Given the description of an element on the screen output the (x, y) to click on. 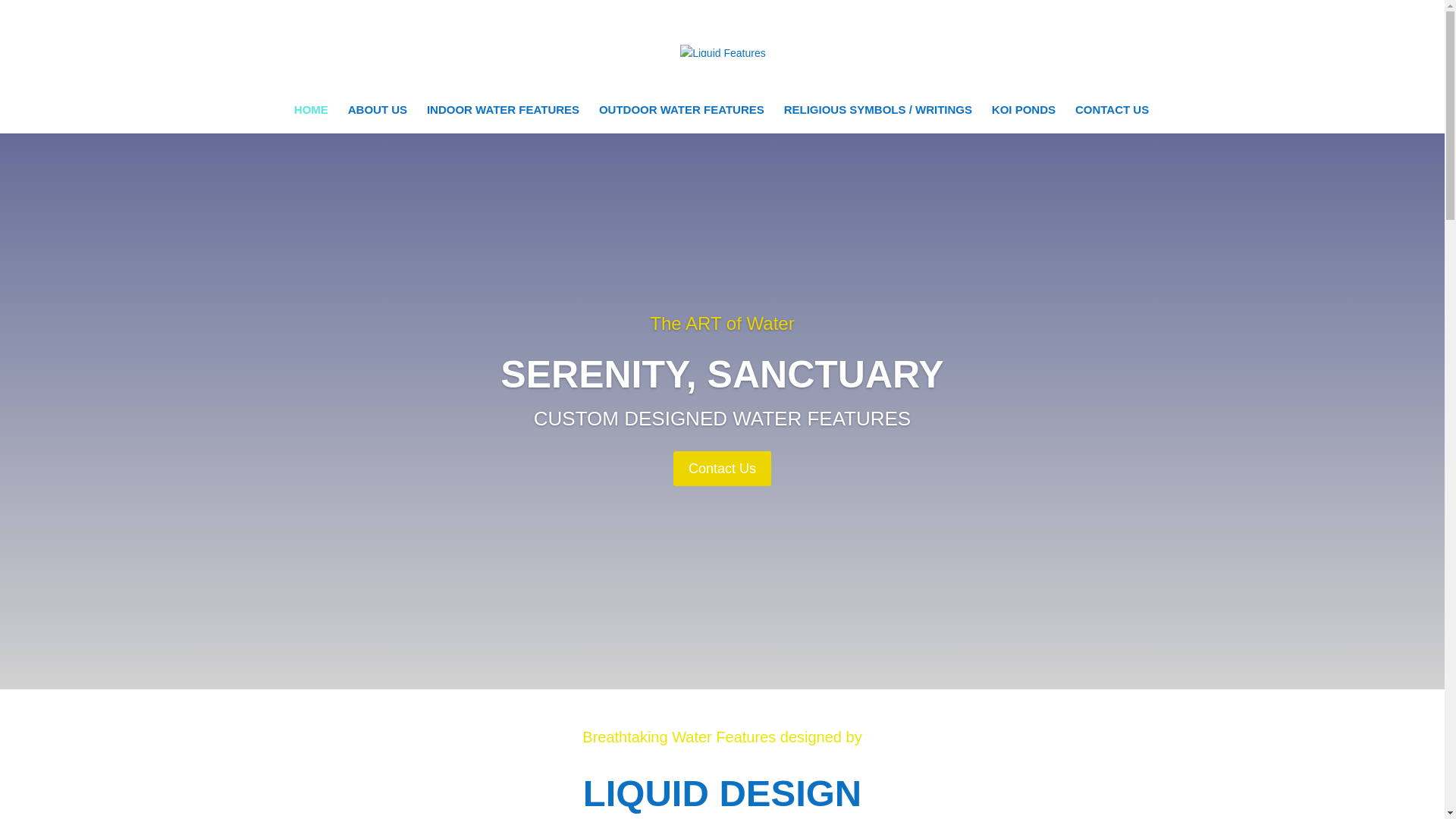
HOME (311, 118)
KOI PONDS (1023, 118)
INDOOR WATER FEATURES (502, 118)
ABOUT US (377, 118)
OUTDOOR WATER FEATURES (681, 118)
CONTACT US (1111, 118)
